Given the description of an element on the screen output the (x, y) to click on. 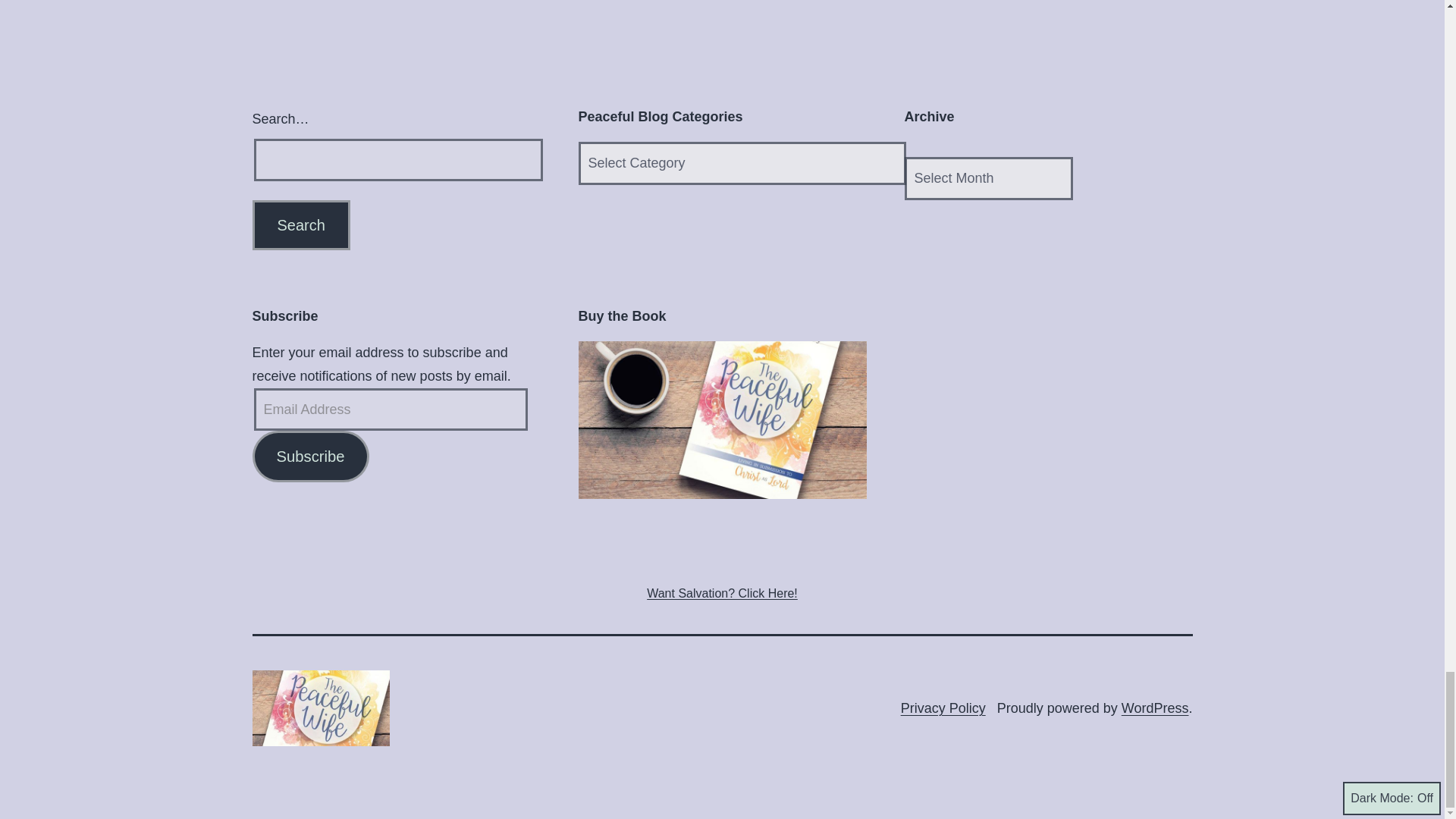
Subscribe (309, 455)
Privacy Policy (943, 708)
Search (300, 224)
Search (300, 224)
Want Salvation? Click Here! (722, 592)
WordPress (1155, 708)
Search (300, 224)
